Given the description of an element on the screen output the (x, y) to click on. 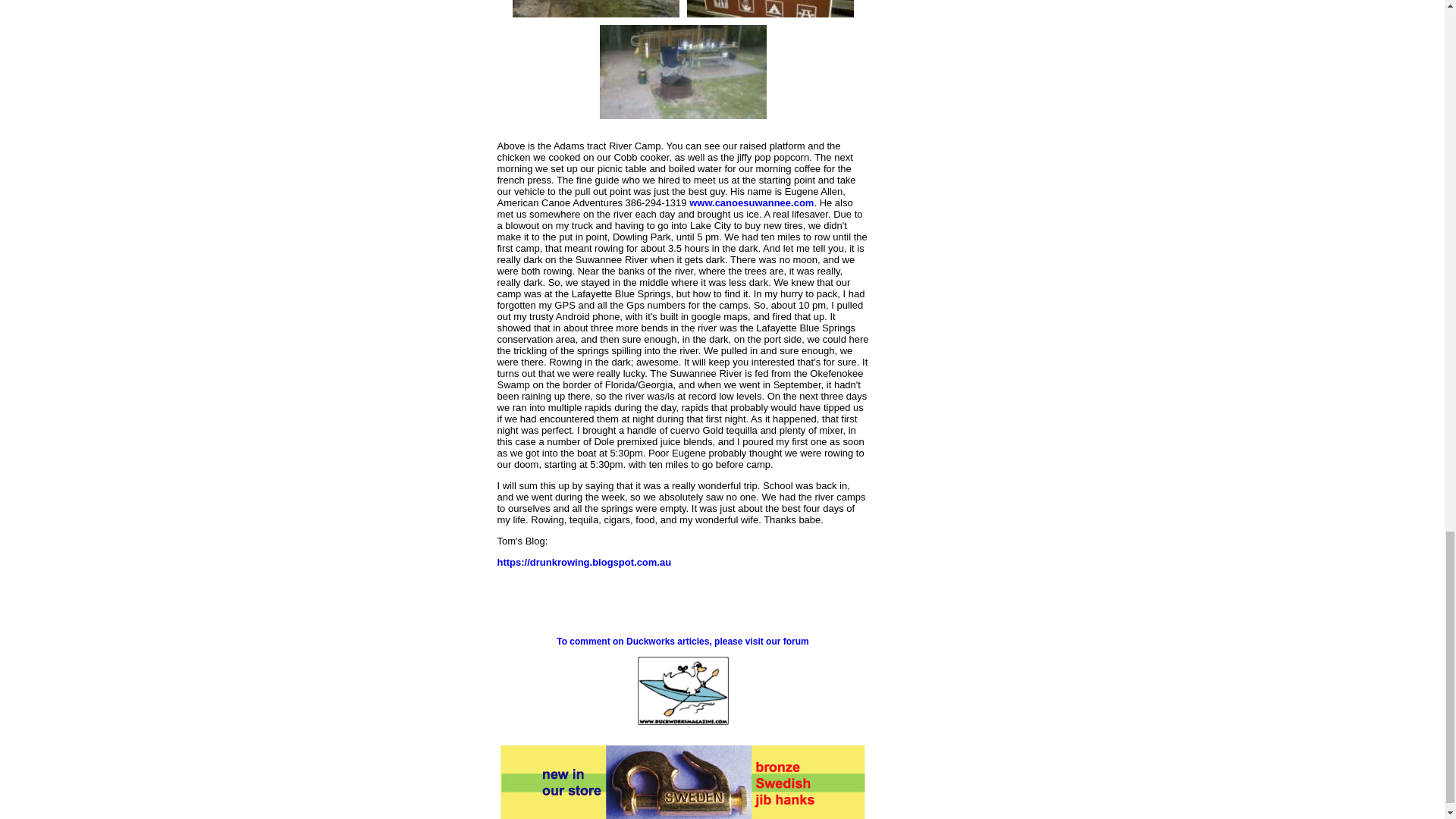
To comment on Duckworks articles, please visit our forum (682, 641)
www.canoesuwannee.com (750, 202)
